Given the description of an element on the screen output the (x, y) to click on. 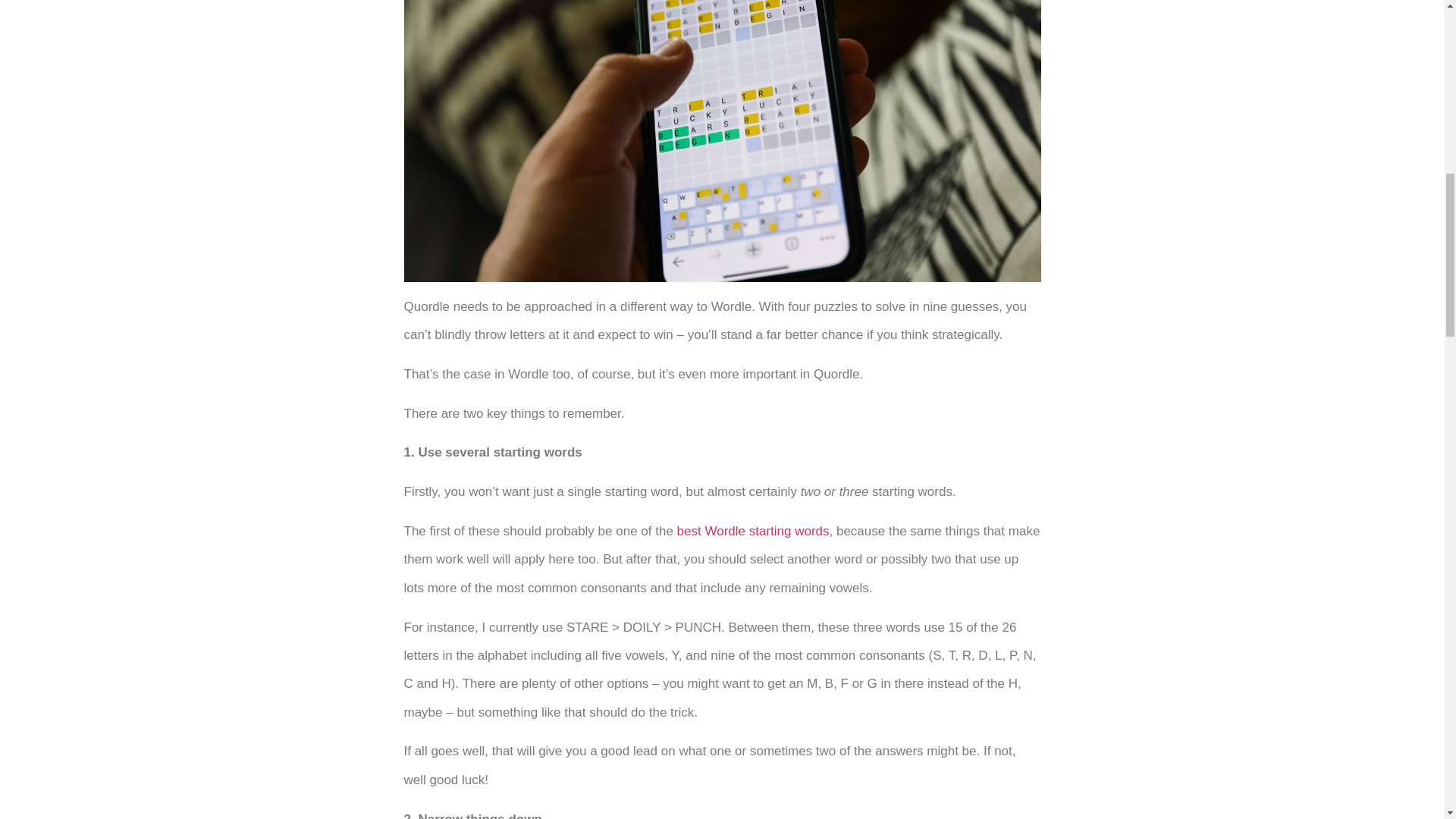
best Wordle starting words (753, 531)
